Given the description of an element on the screen output the (x, y) to click on. 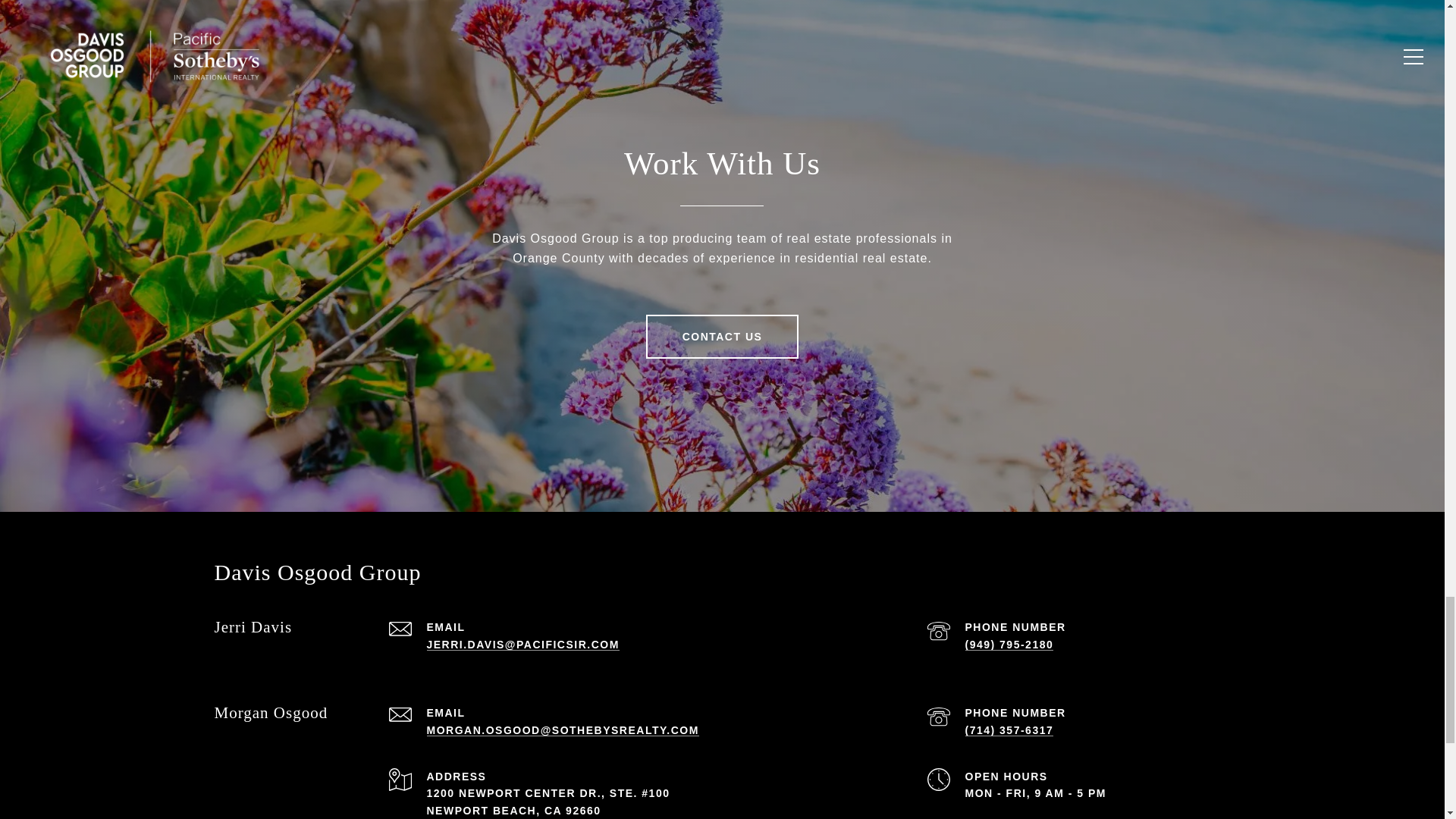
CONTACT US (722, 336)
